Given the description of an element on the screen output the (x, y) to click on. 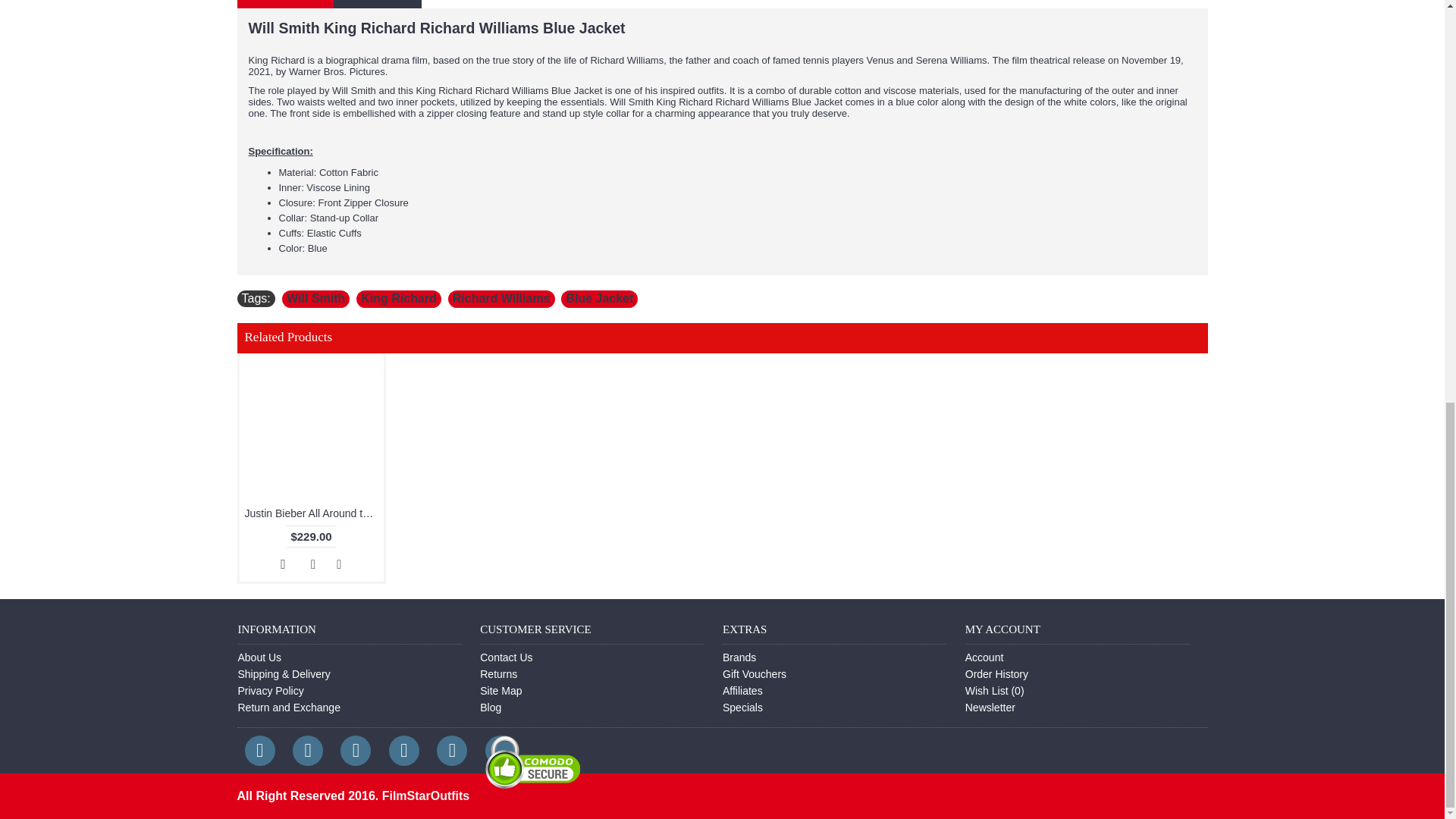
Opens a widget where you can chat to one of our agents (1386, 10)
Justin Bieber All Around the World Black Jacket (312, 427)
